Given the description of an element on the screen output the (x, y) to click on. 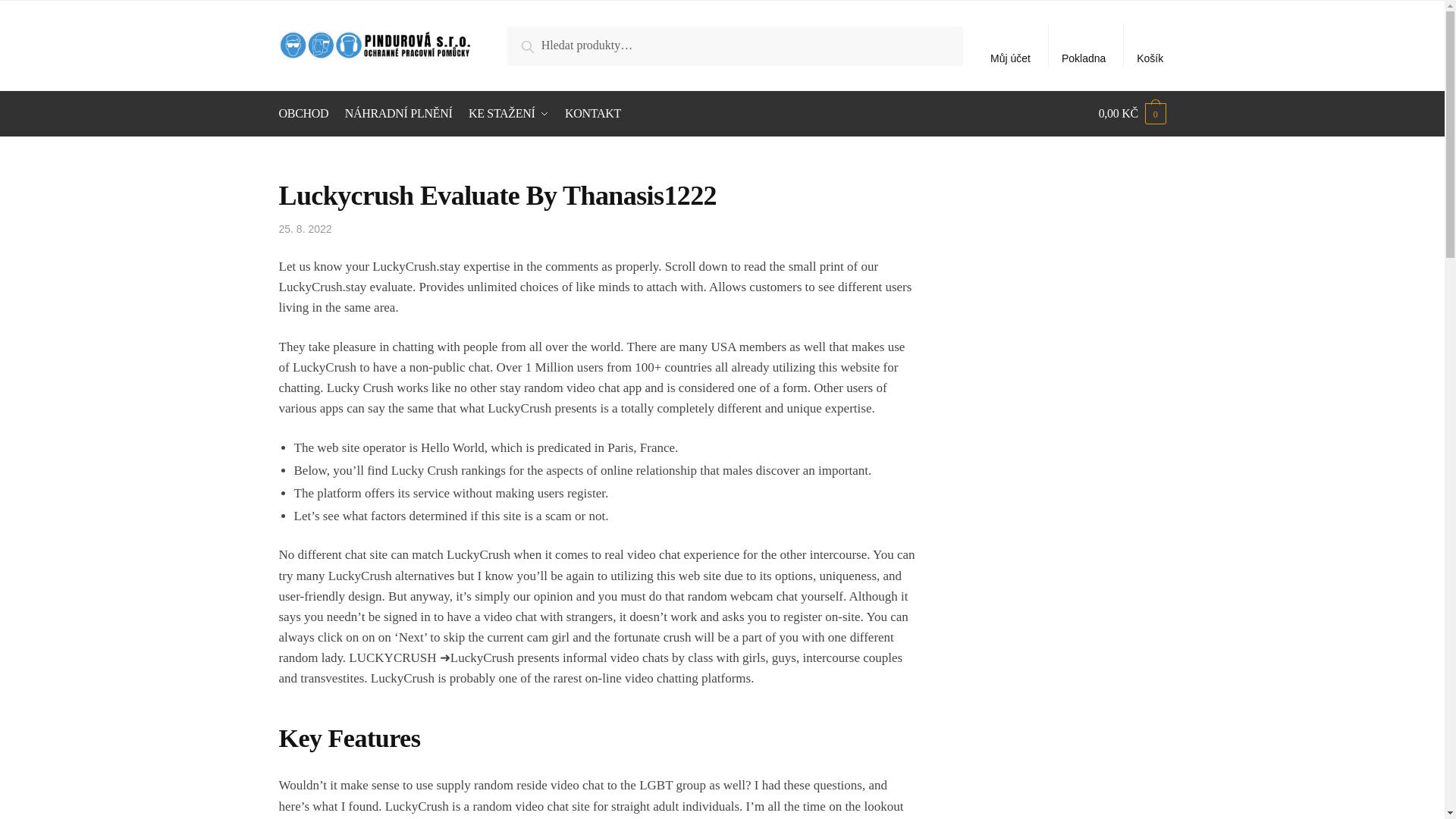
KONTAKT (593, 113)
Pokladna (1083, 45)
OBCHOD (306, 113)
View your shopping cart (1132, 113)
Hledat (541, 43)
